Given the description of an element on the screen output the (x, y) to click on. 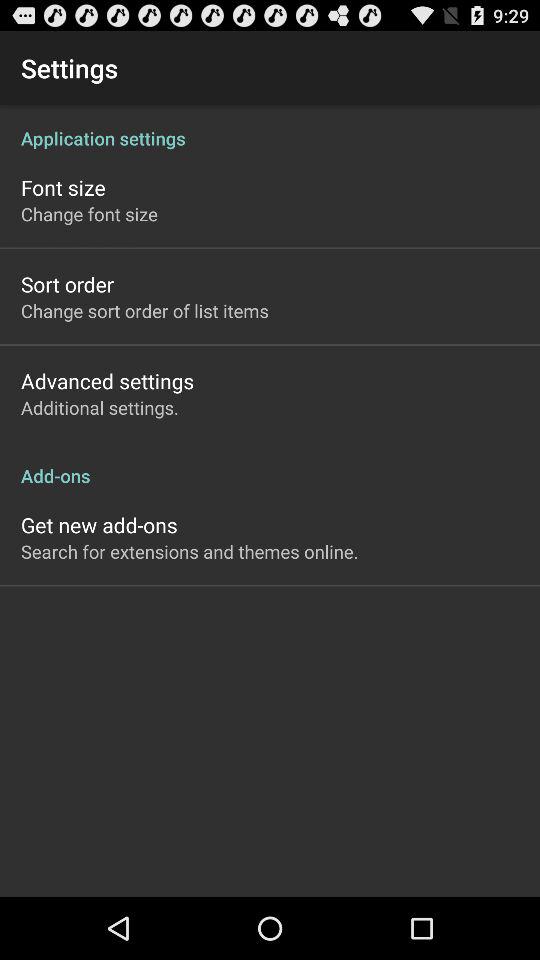
swipe to advanced settings (107, 380)
